Given the description of an element on the screen output the (x, y) to click on. 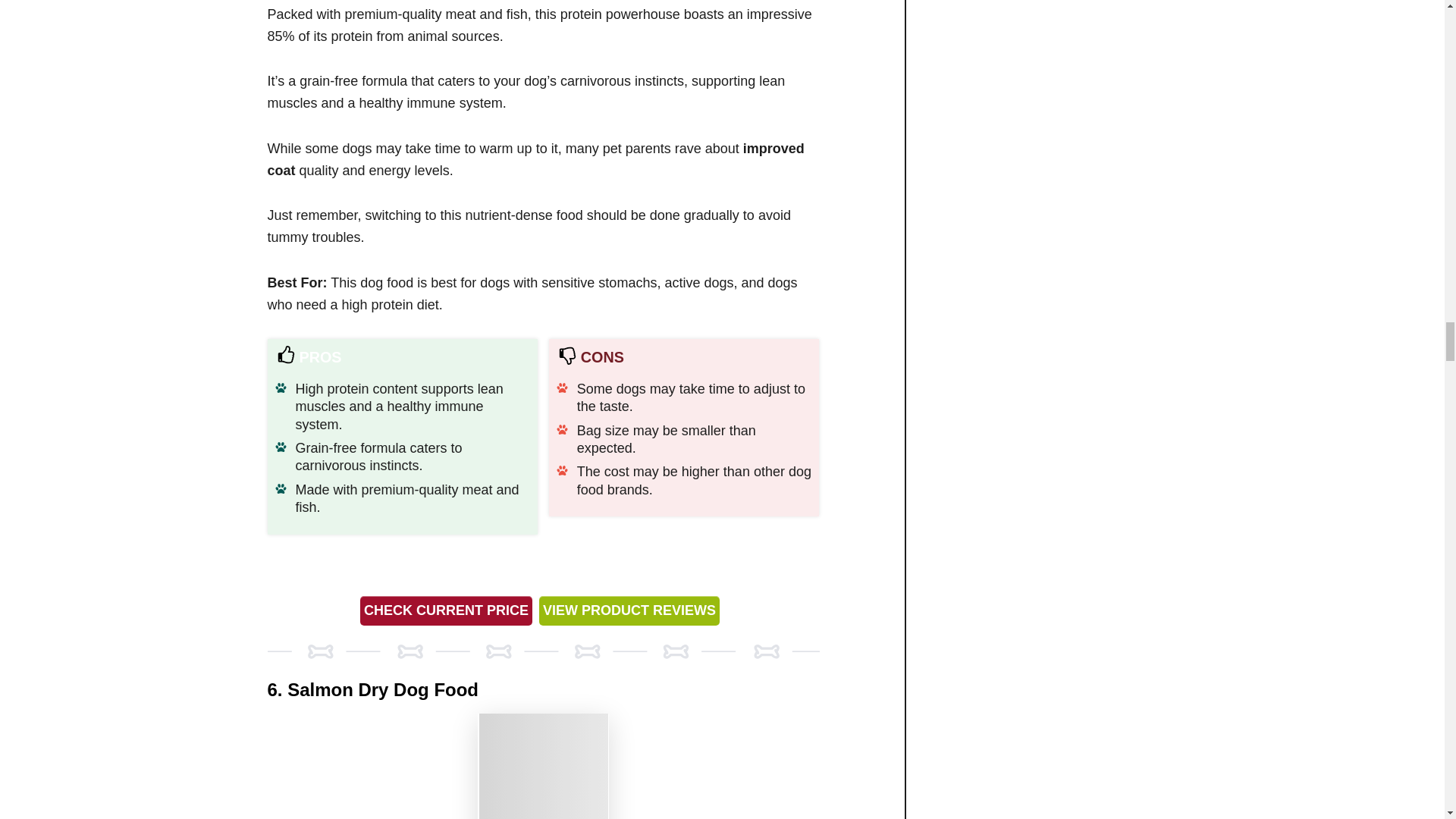
Solid Gold Leaping Waters - (542, 766)
